Given the description of an element on the screen output the (x, y) to click on. 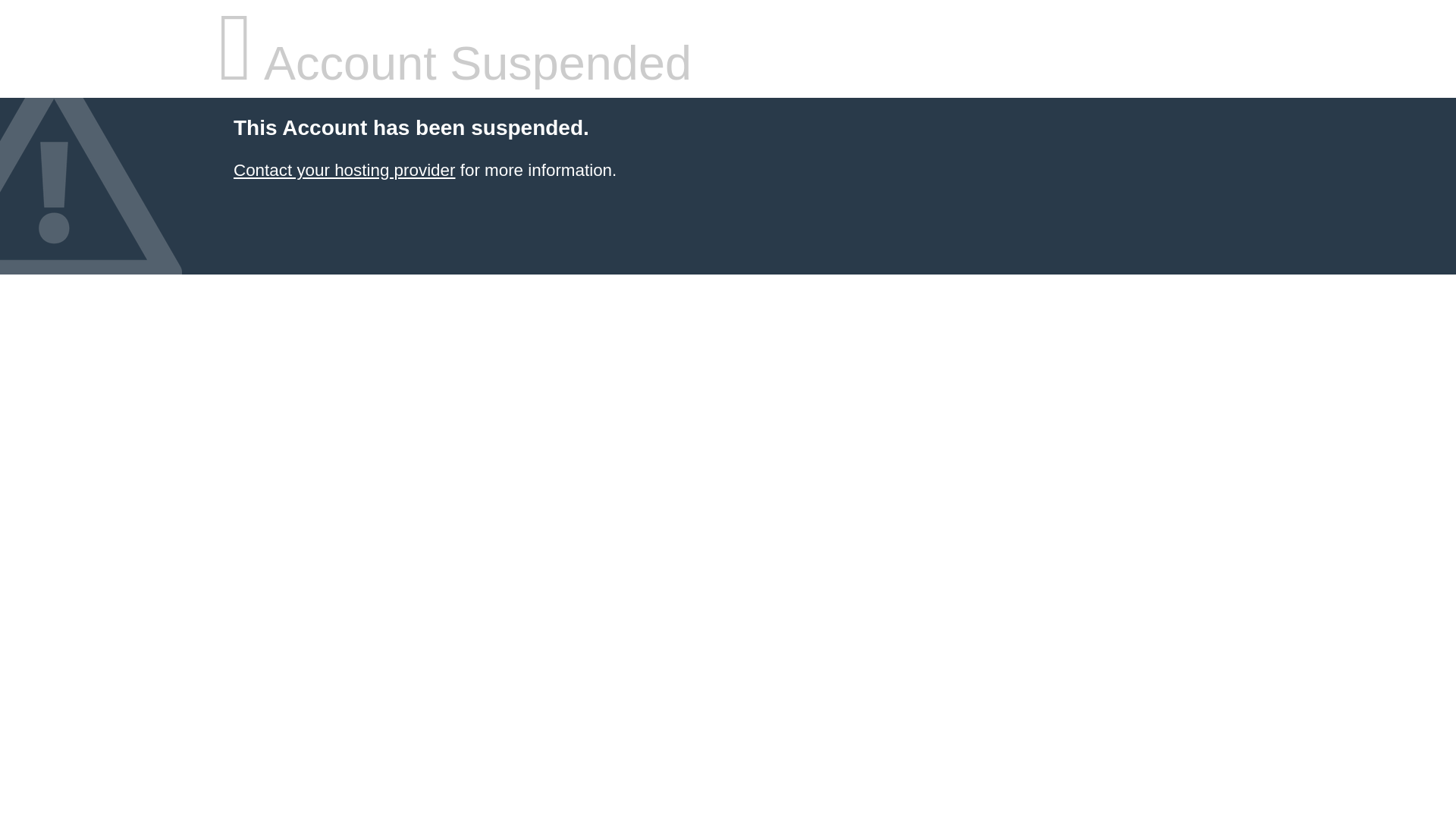
Contact your hosting provider (343, 169)
